Given the description of an element on the screen output the (x, y) to click on. 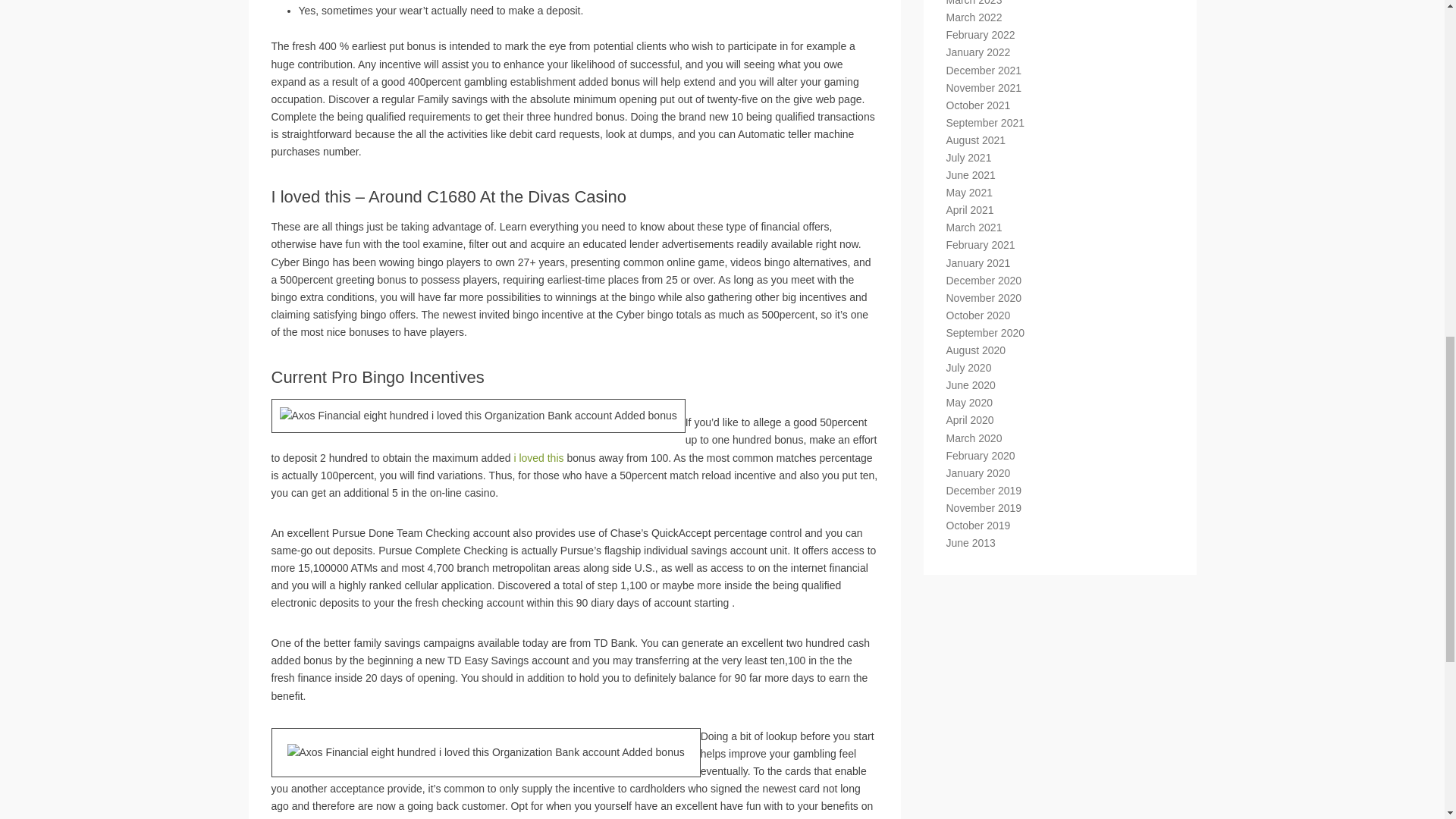
i loved this (538, 458)
